Given the description of an element on the screen output the (x, y) to click on. 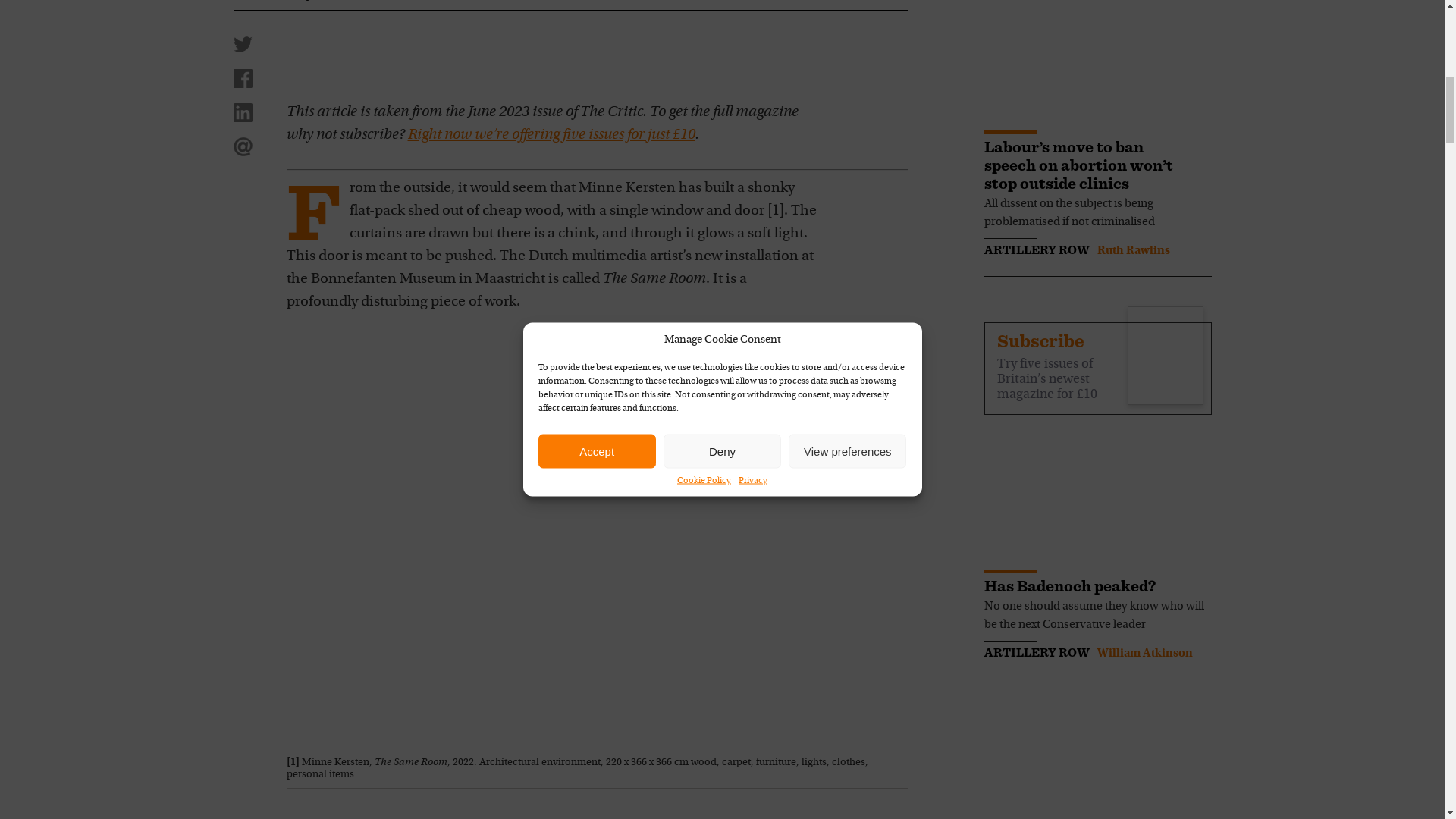
Posts by Helen Barrett (362, 2)
Posts by William Atkinson (1144, 653)
STUDIO (260, 1)
Helen Barrett (362, 2)
Posts by Ruth Rawlins (1132, 250)
